Given the description of an element on the screen output the (x, y) to click on. 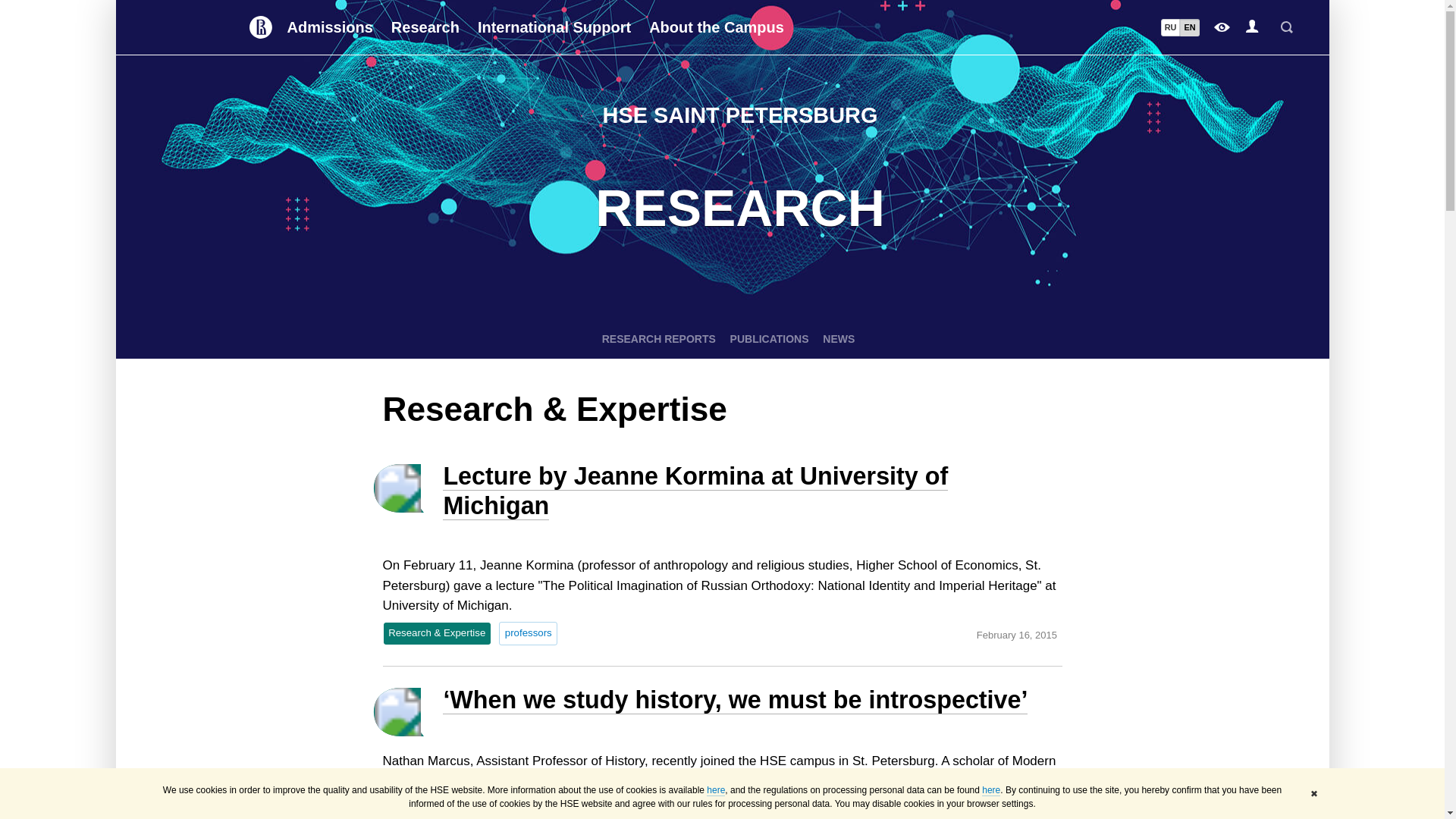
professors (528, 632)
Research (425, 27)
here (990, 790)
Lecture by Jeanne Kormina at University of Michigan (694, 491)
Search (1286, 27)
here (715, 790)
About the Campus (716, 27)
Admissions (329, 27)
International Support (553, 27)
